Given the description of an element on the screen output the (x, y) to click on. 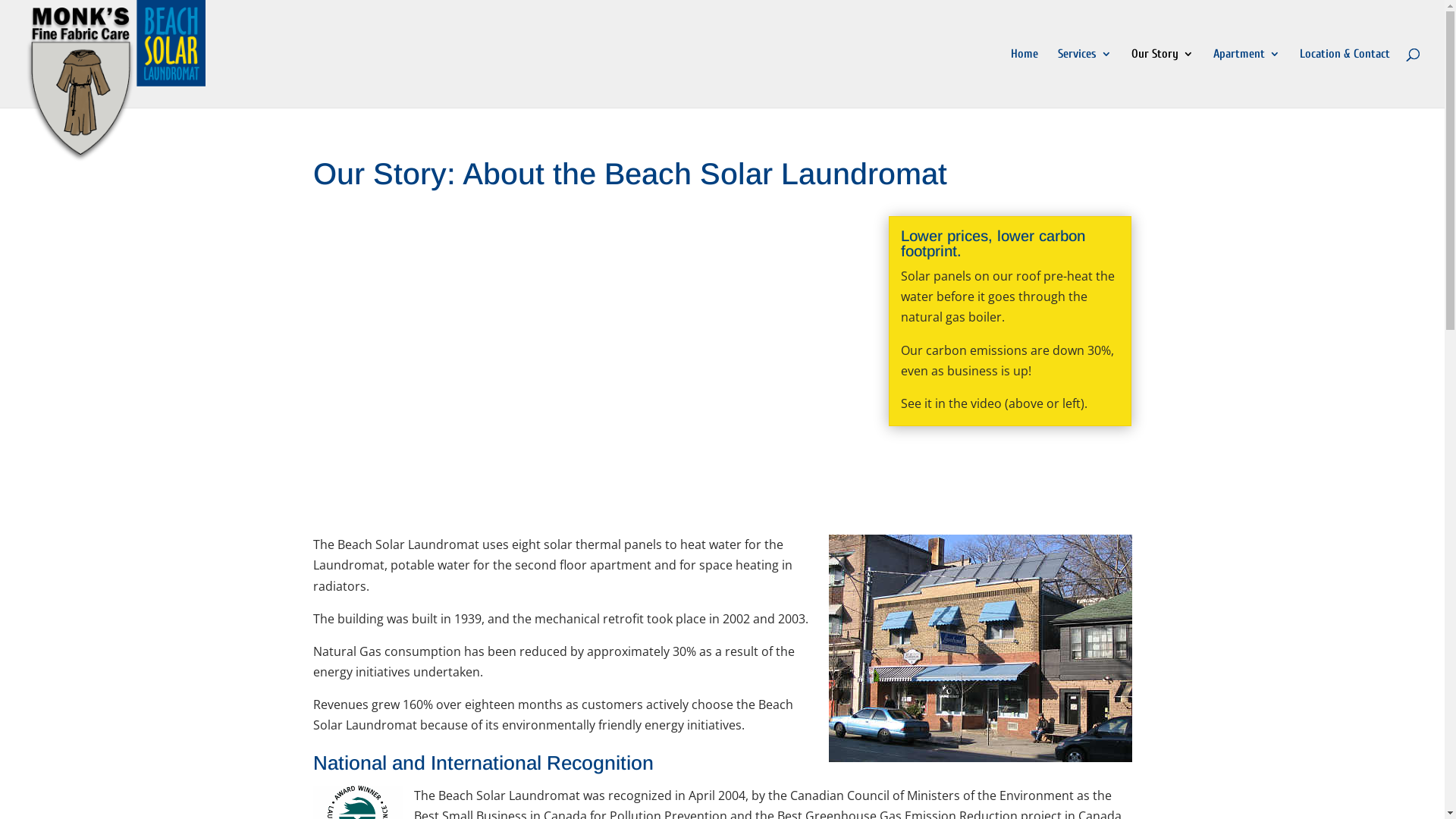
Solar Energy REVISED Element type: hover (577, 365)
Our Story Element type: text (1162, 77)
Apartment Element type: text (1246, 77)
Services Element type: text (1084, 77)
Location & Contact Element type: text (1344, 77)
Home Element type: text (1024, 77)
